Given the description of an element on the screen output the (x, y) to click on. 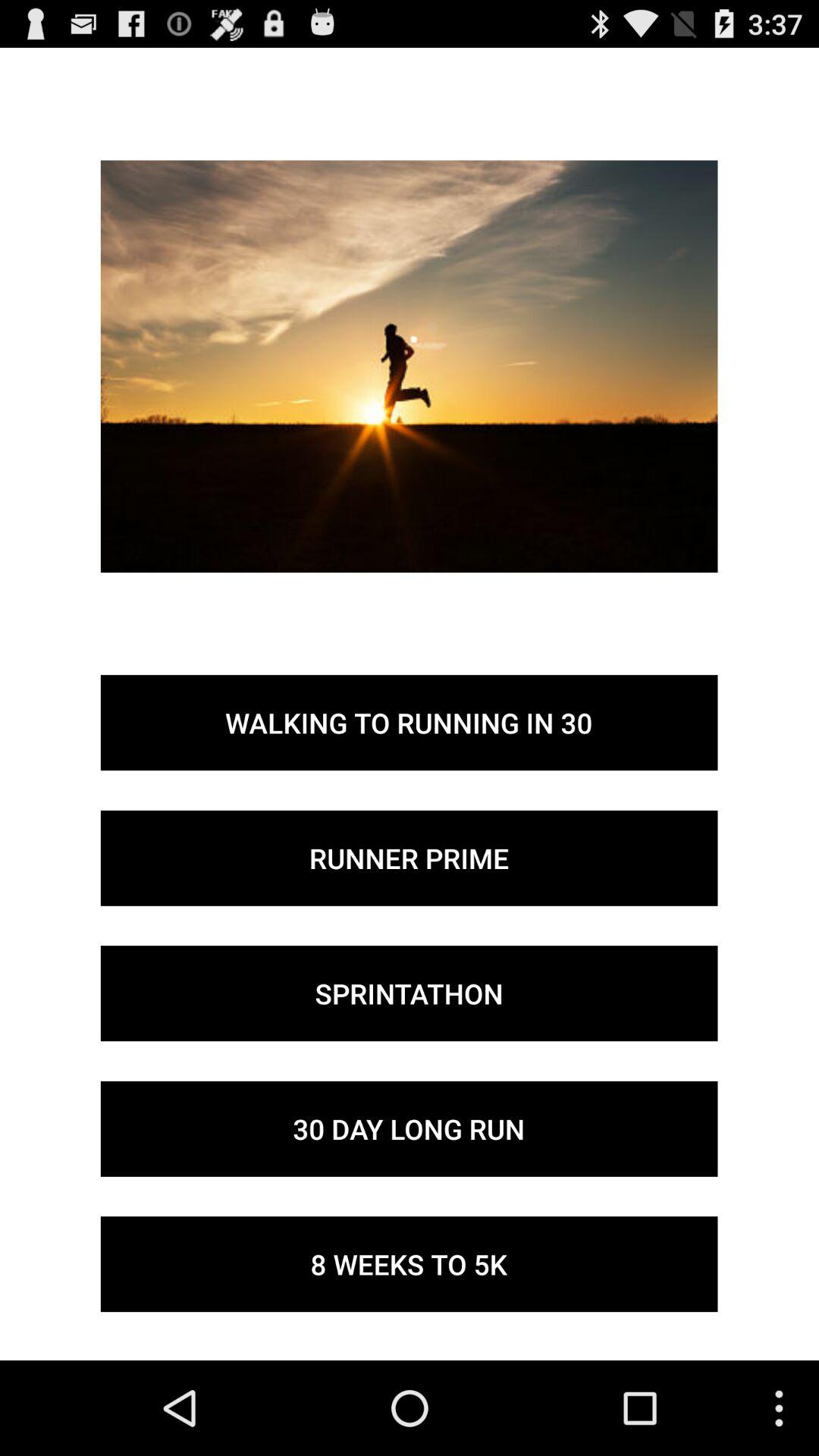
select icon above 8 weeks to icon (408, 1128)
